Given the description of an element on the screen output the (x, y) to click on. 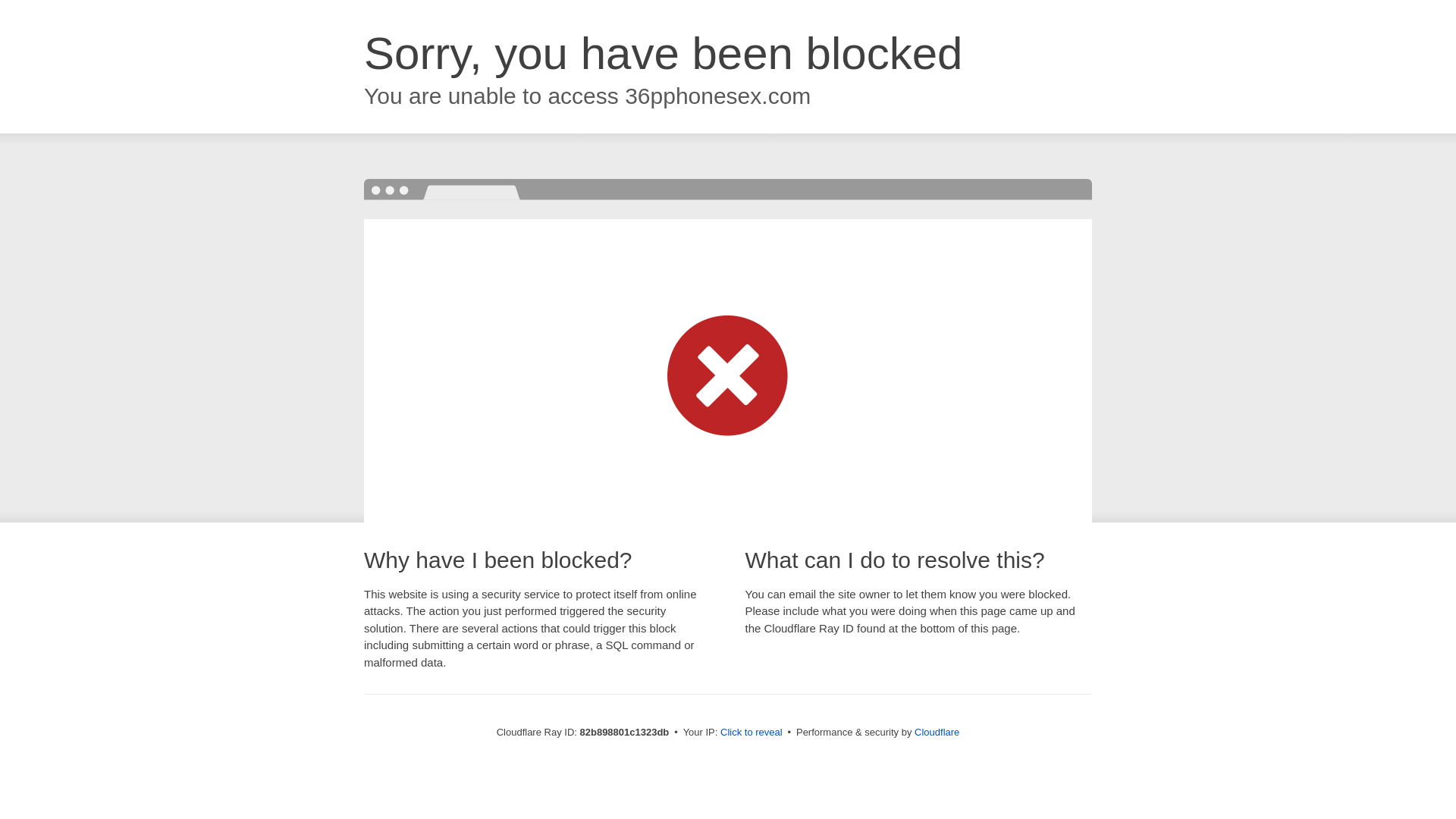
Cloudflare Element type: text (936, 731)
Click to reveal Element type: text (751, 732)
